Given the description of an element on the screen output the (x, y) to click on. 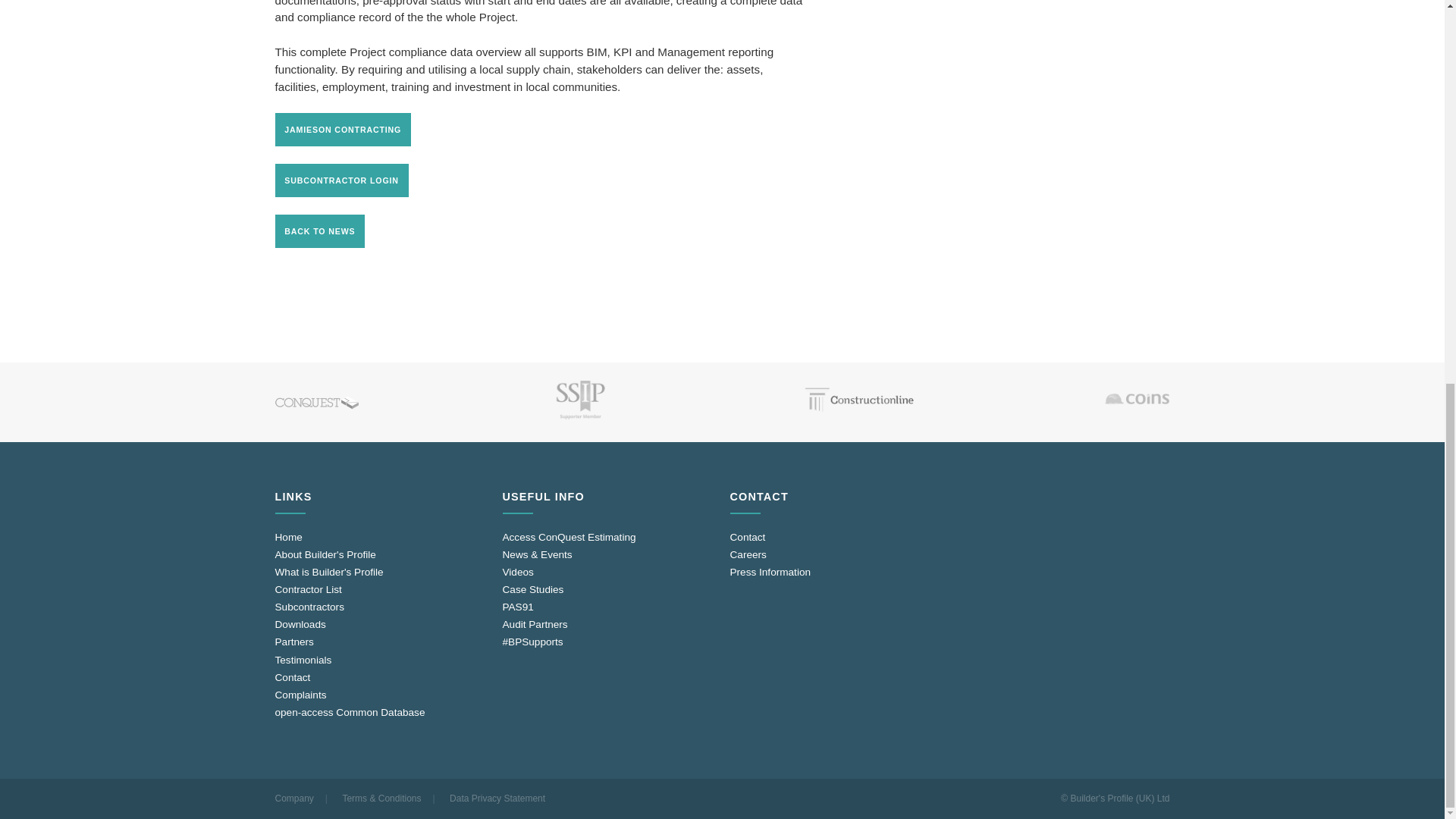
Contact (292, 677)
Contractor List (307, 589)
BACK TO NEWS (320, 231)
Subcontractors (309, 606)
Home (288, 536)
About Builder's Profile (325, 554)
Testimonials (303, 659)
JAMIESON CONTRACTING (342, 129)
What is Builder's Profile (328, 572)
Partners (294, 641)
Downloads (299, 624)
Complaints (300, 695)
SUBCONTRACTOR LOGIN (341, 180)
